Given the description of an element on the screen output the (x, y) to click on. 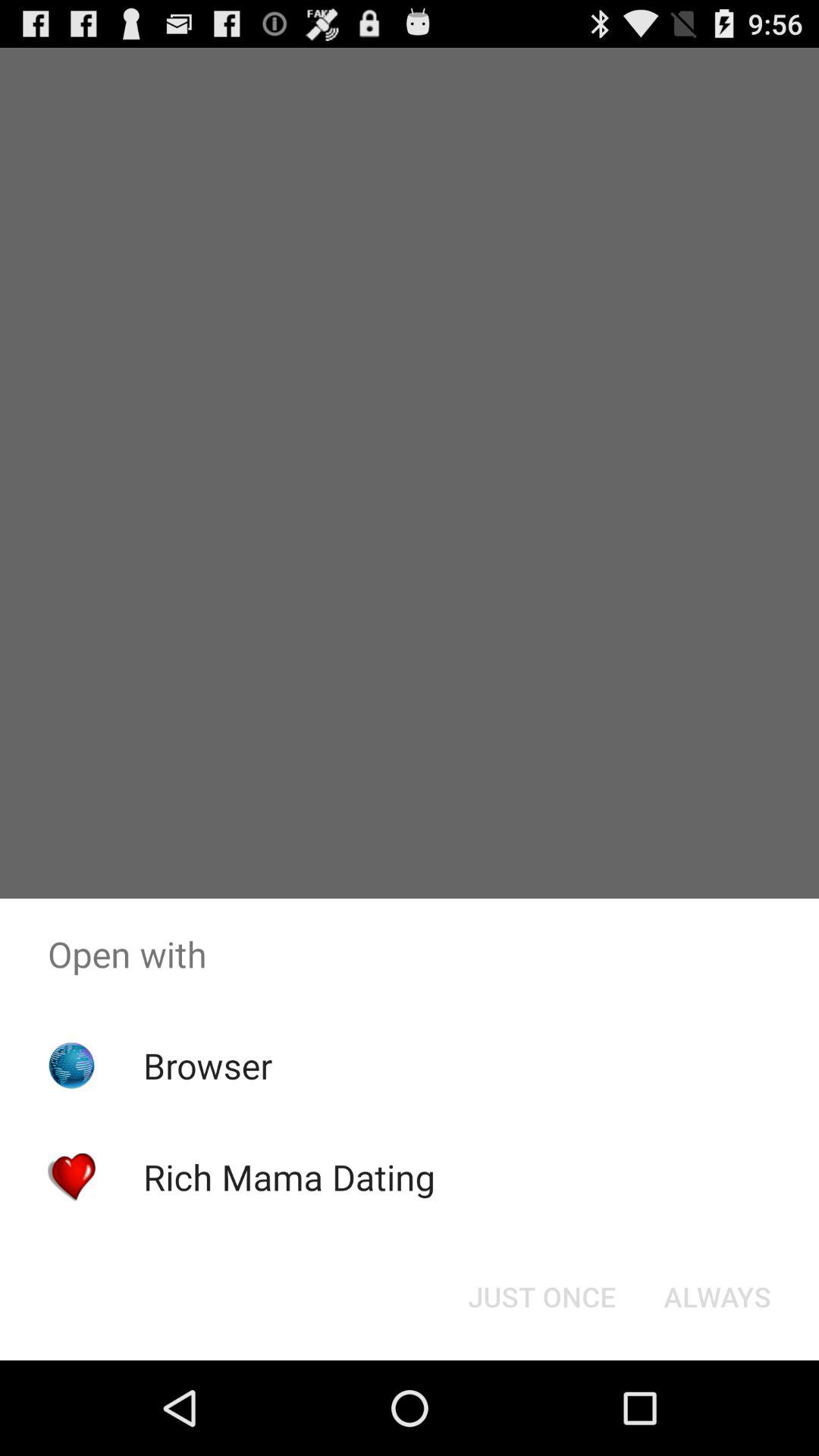
turn on the always button (717, 1296)
